Given the description of an element on the screen output the (x, y) to click on. 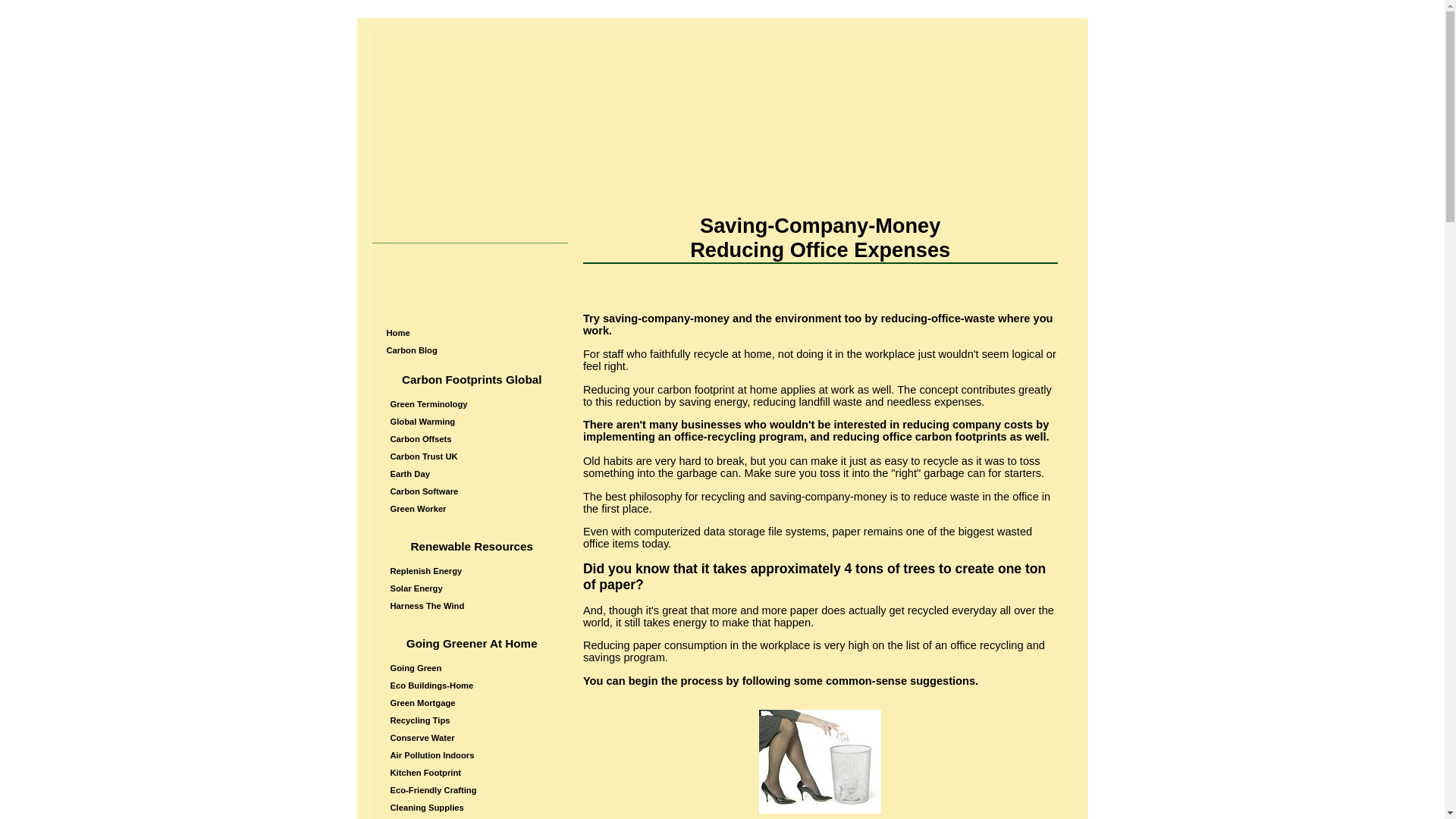
Solar Energy (473, 588)
Earth Day (473, 473)
wastebasket (819, 762)
Green Terminology (473, 403)
Eco Buildings-Home (473, 685)
Air Pollution Indoors (473, 754)
Green Worker (473, 508)
Eco-Friendly Crafting (473, 789)
Green Mortgage (473, 702)
Carbon Trust UK (473, 456)
